Given the description of an element on the screen output the (x, y) to click on. 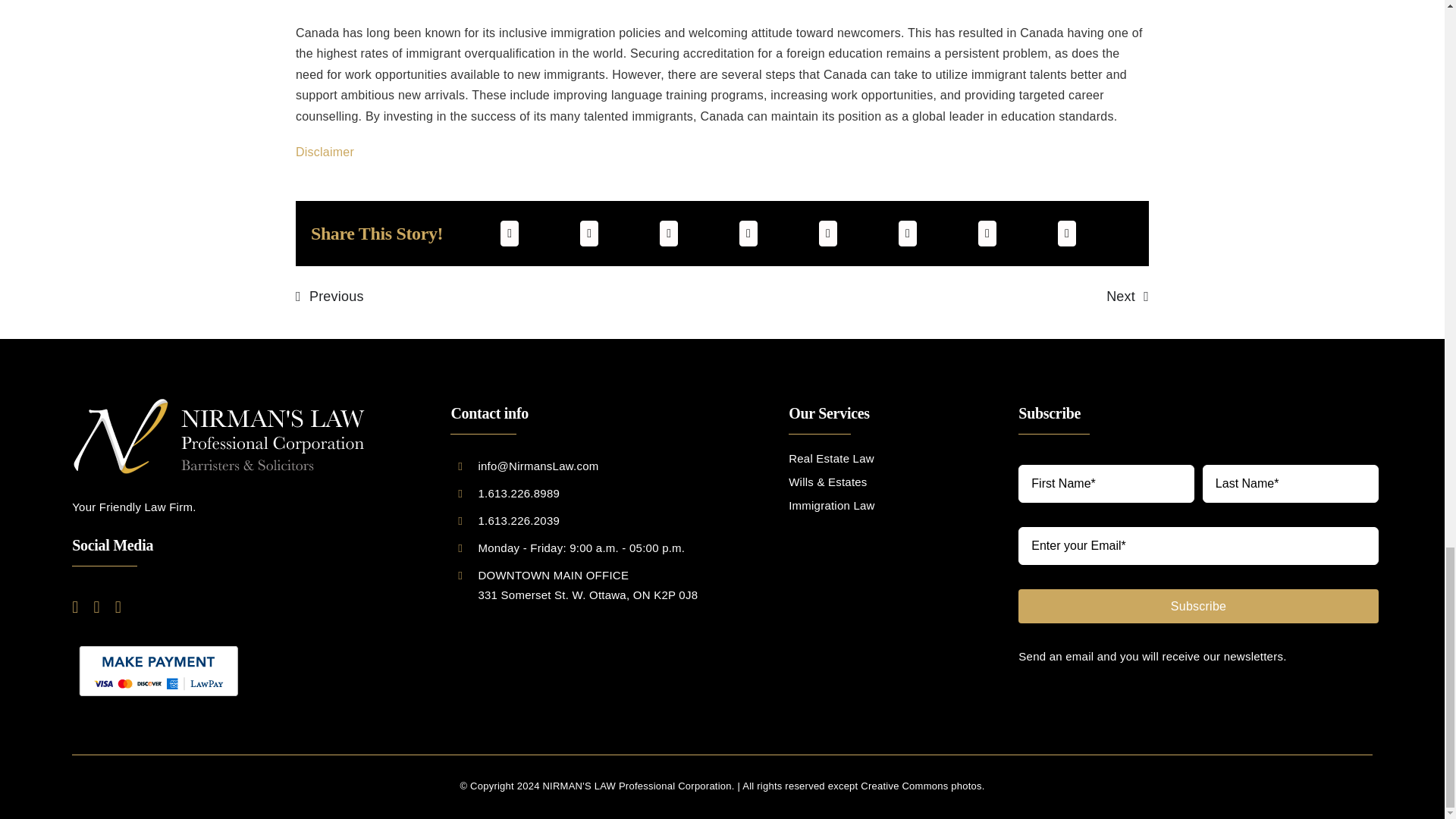
Disclaimer (324, 151)
Subscribe (1194, 543)
